Given the description of an element on the screen output the (x, y) to click on. 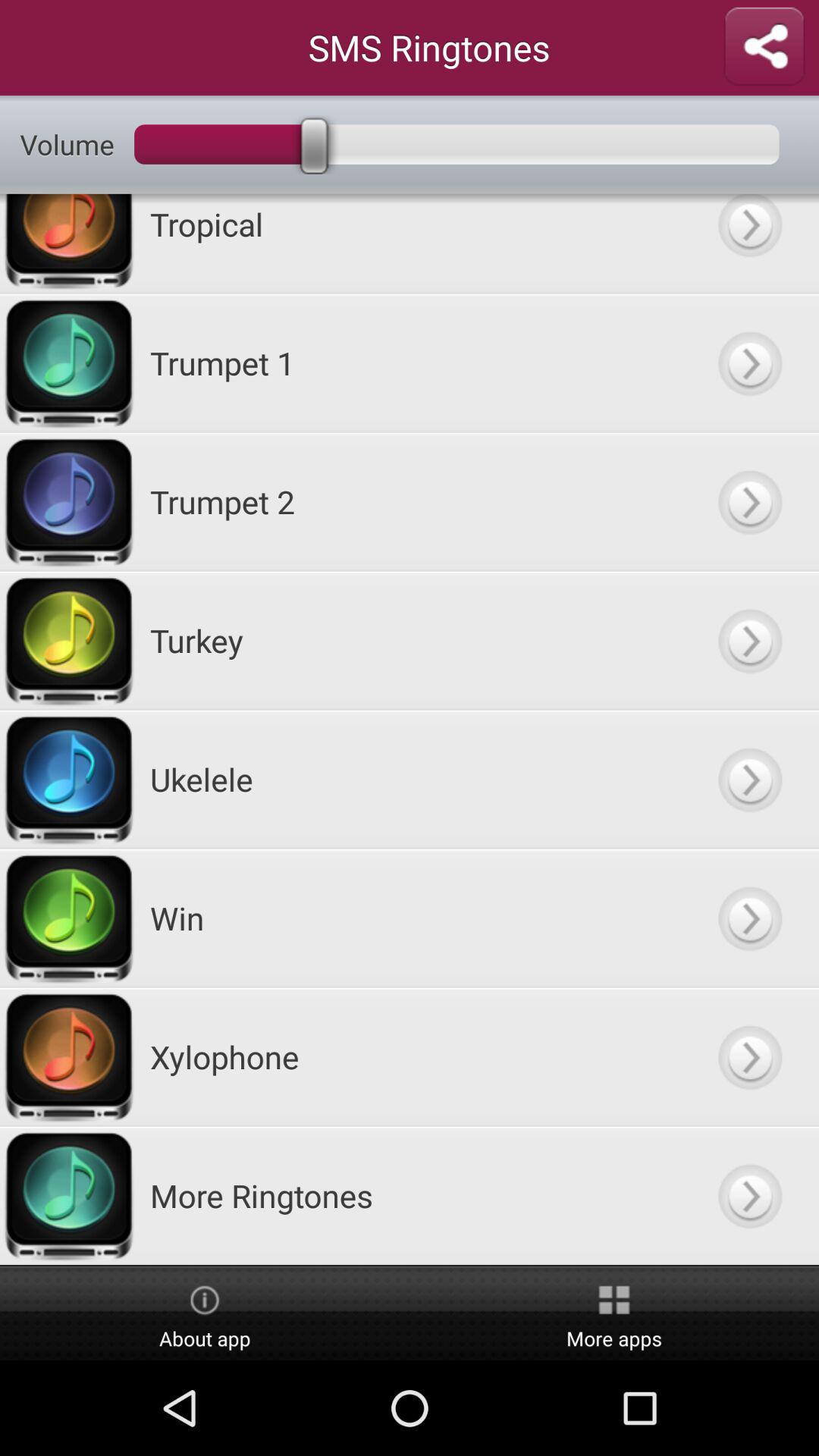
play trumpet 1 (749, 363)
